Given the description of an element on the screen output the (x, y) to click on. 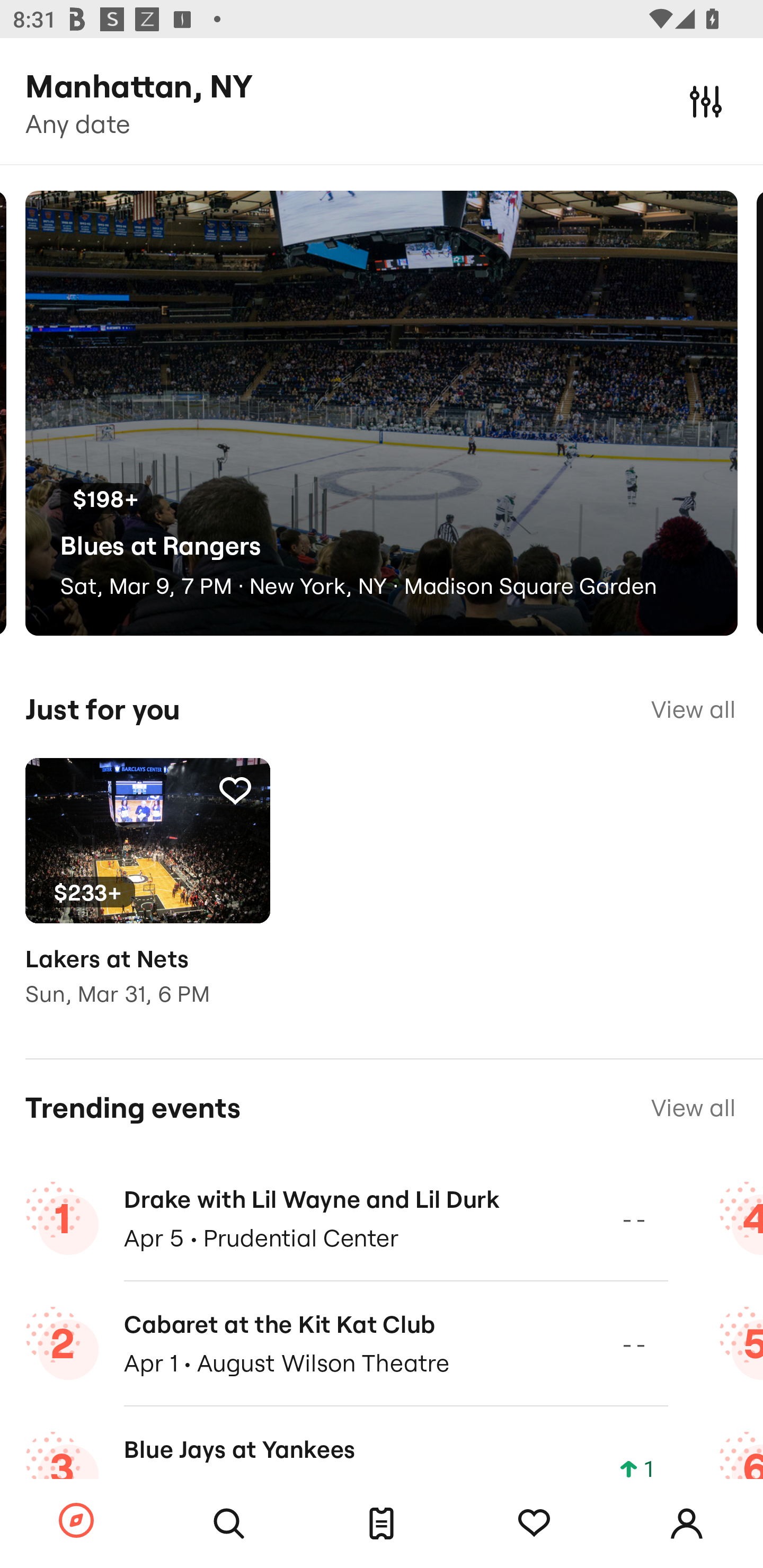
Filters (705, 100)
View all (693, 709)
Tracking $233+ Lakers at Nets Sun, Mar 31, 6 PM (147, 895)
Tracking (234, 790)
View all (693, 1108)
Browse (76, 1521)
Search (228, 1523)
Tickets (381, 1523)
Tracking (533, 1523)
Account (686, 1523)
